Given the description of an element on the screen output the (x, y) to click on. 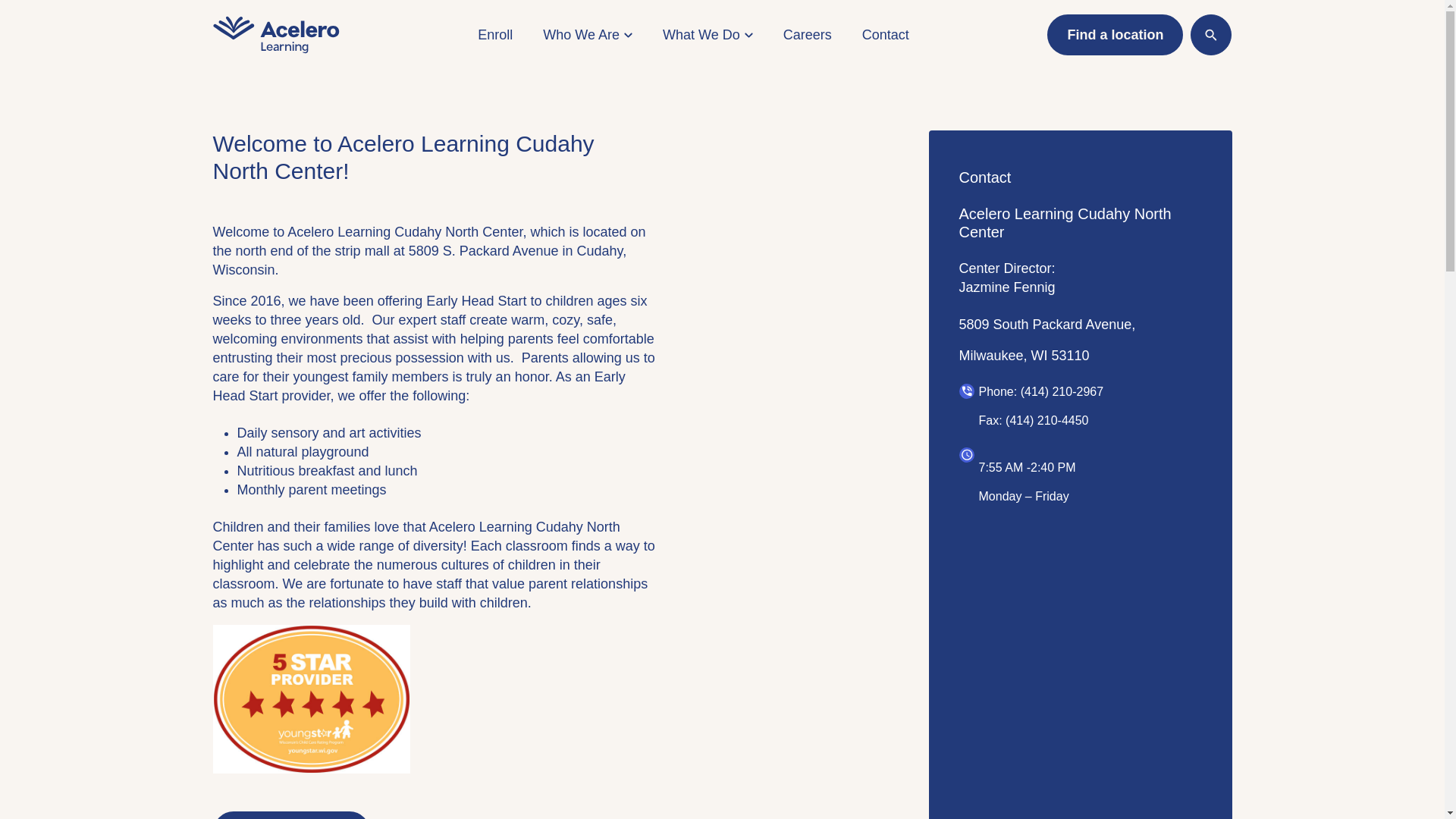
What We Do (707, 34)
What We Do (707, 34)
Find a location (1114, 34)
Enroll Today (290, 815)
Acelero Learning (275, 34)
Who We Are (587, 34)
Who We Are (587, 34)
